Given the description of an element on the screen output the (x, y) to click on. 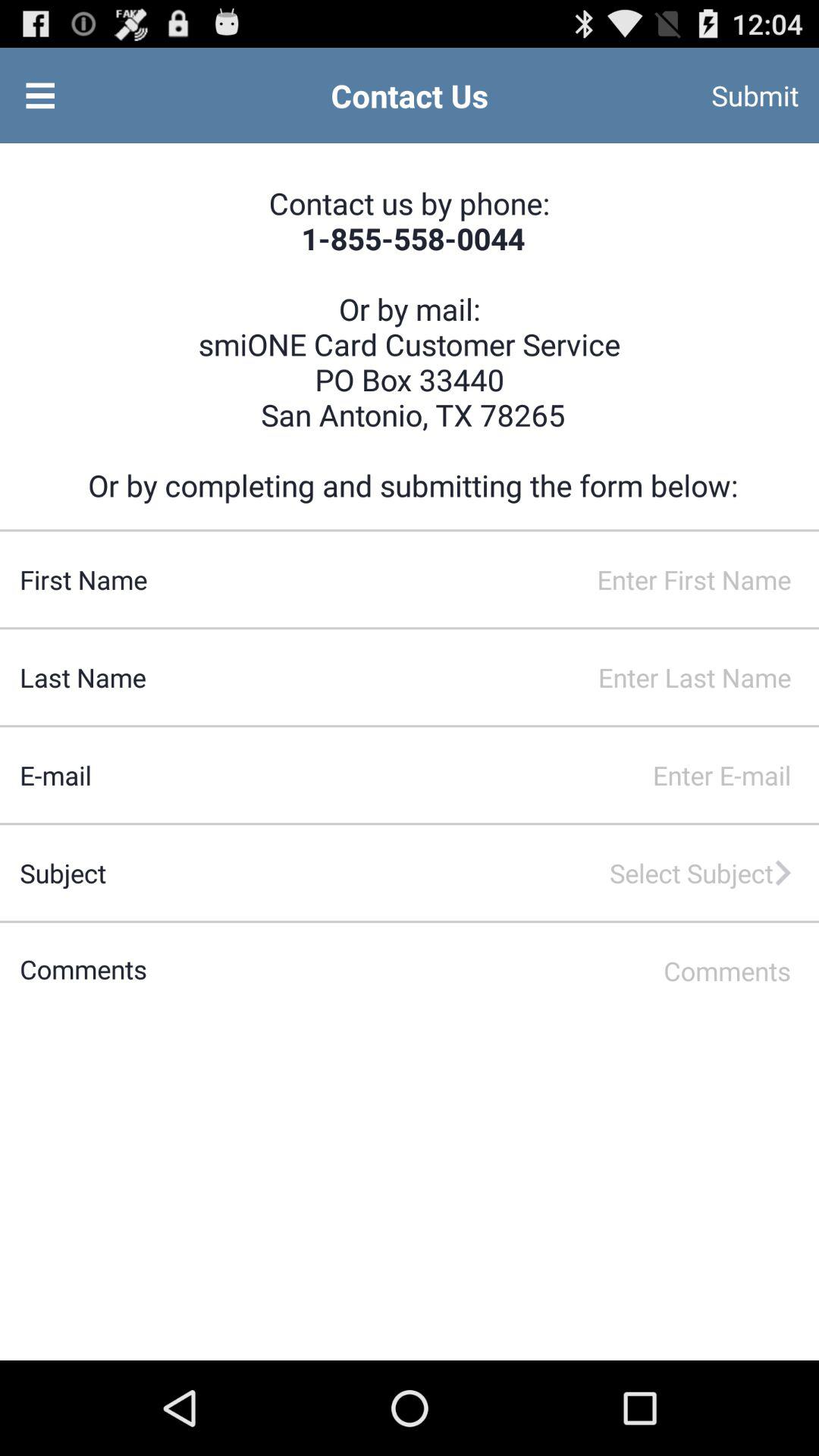
input name (483, 579)
